Given the description of an element on the screen output the (x, y) to click on. 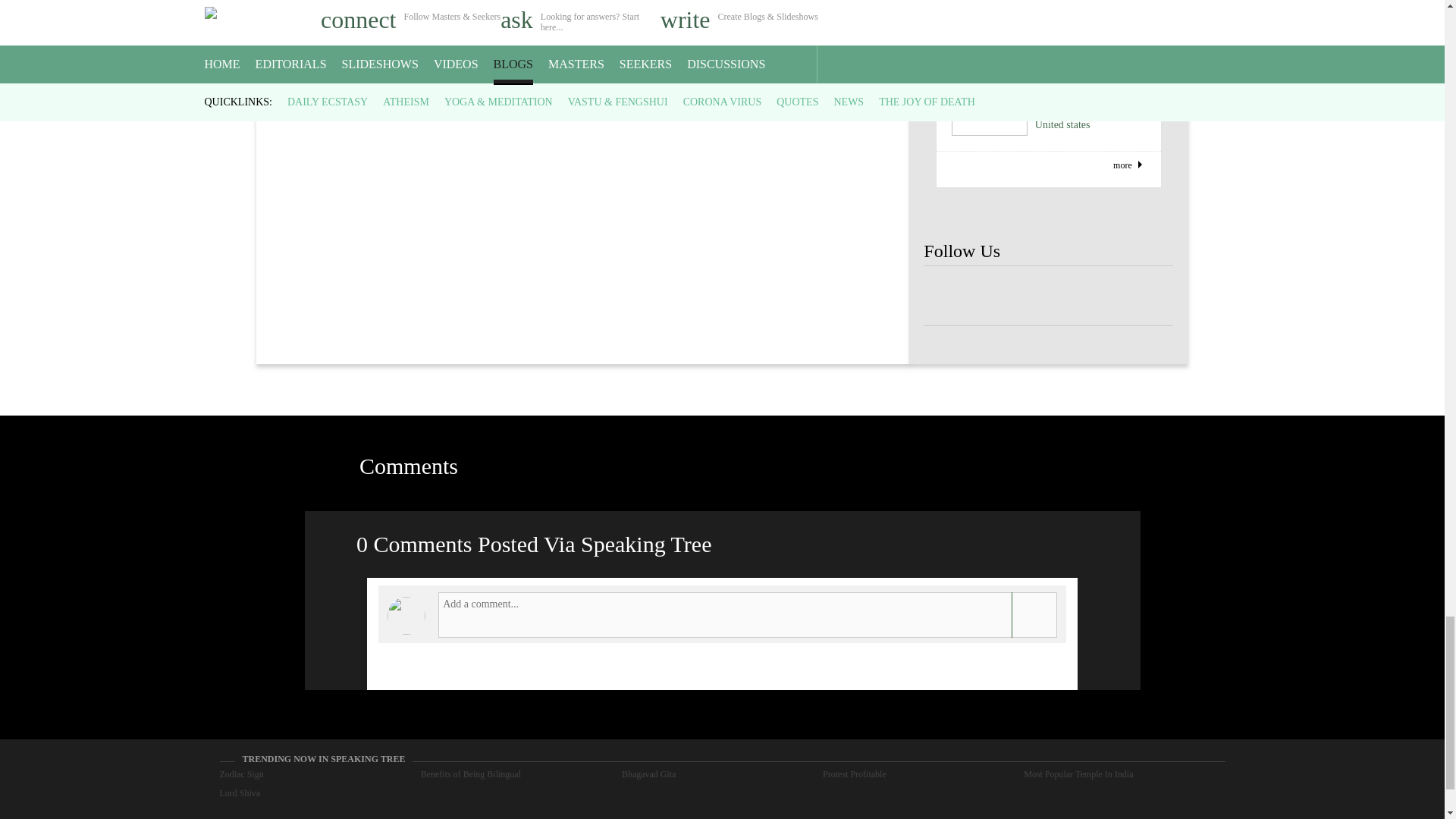
Speaking Tree FaceBook (1099, 296)
Speaking Tree FaceBook (1048, 296)
Speaking Tree FaceBook (948, 296)
Speaking Tree FaceBook (1147, 296)
Speaking Tree FaceBook (998, 296)
